Given the description of an element on the screen output the (x, y) to click on. 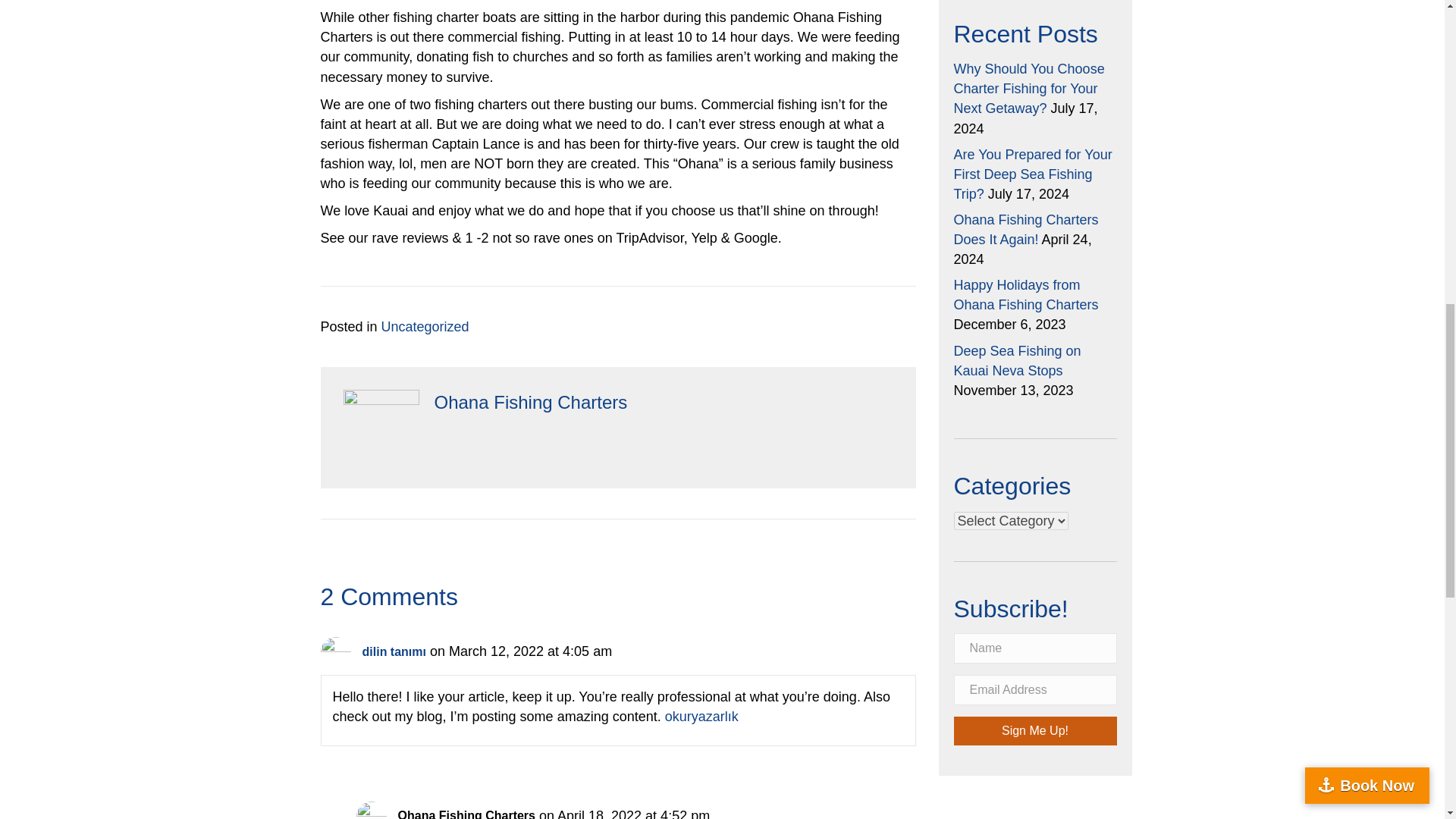
Why Should You Choose Charter Fishing for Your Next Getaway? (1029, 88)
Uncategorized (424, 326)
Happy Holidays from Ohana Fishing Charters (1026, 294)
Sign Me Up! (1034, 730)
FareHarbor (1342, 64)
Ohana Fishing Charters Does It Again! (1026, 229)
Deep Sea Fishing on Kauai Neva Stops (1017, 360)
Are You Prepared for Your First Deep Sea Fishing Trip? (1032, 174)
